Given the description of an element on the screen output the (x, y) to click on. 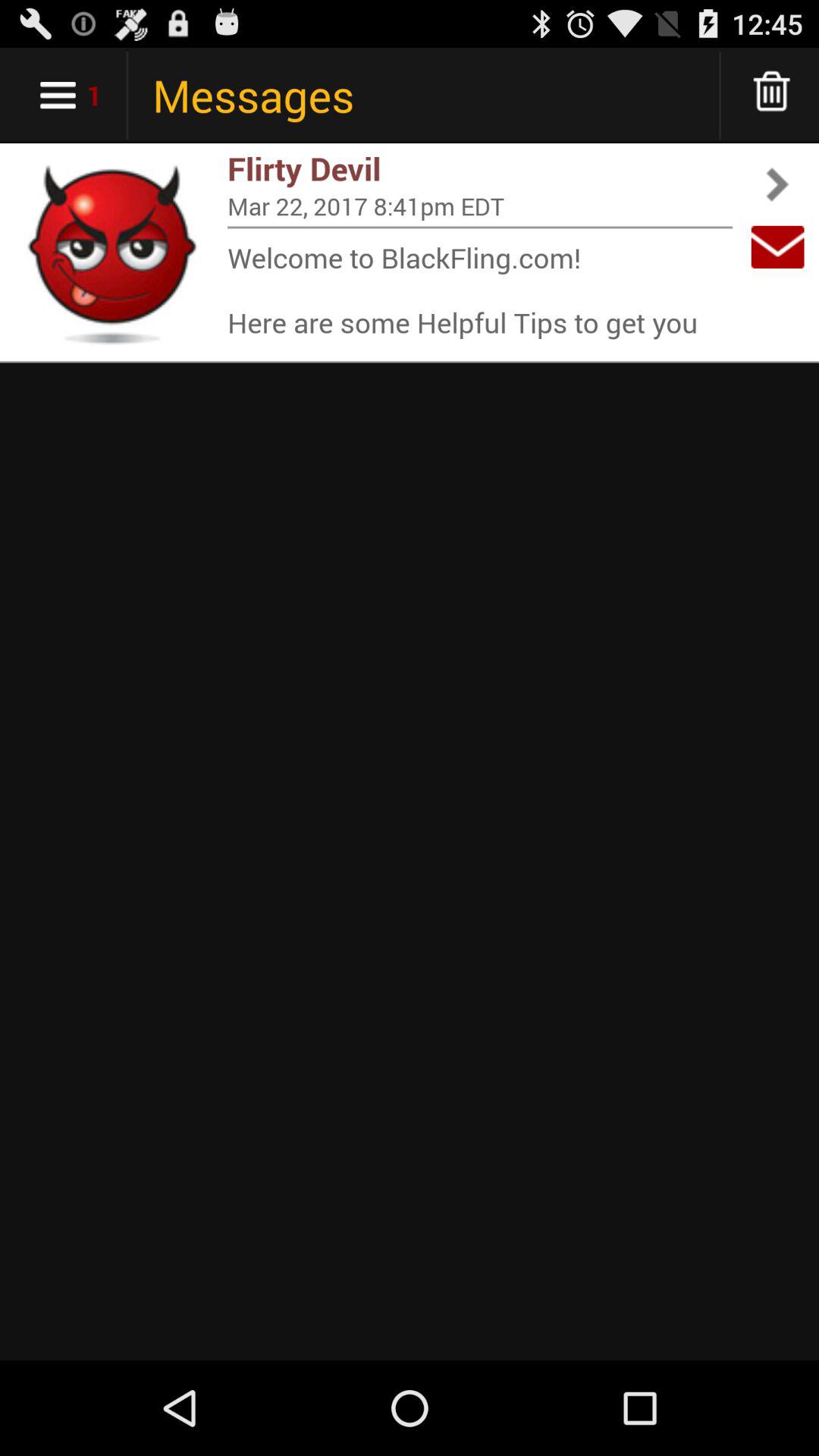
press the mar 22 2017 app (479, 205)
